Given the description of an element on the screen output the (x, y) to click on. 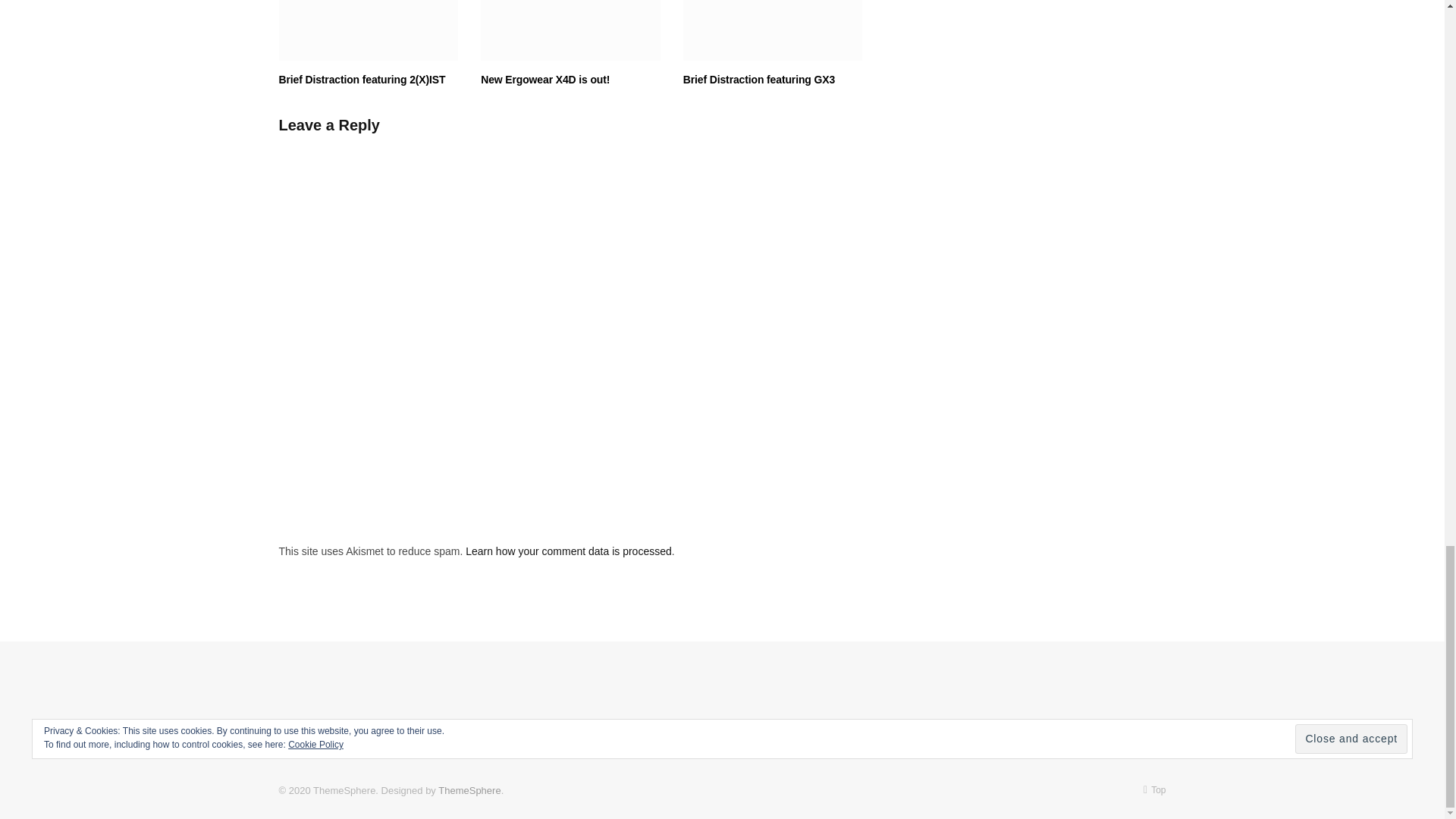
Brief Distraction featuring GX3 (772, 30)
New Ergowear X4D is out! (570, 30)
